Given the description of an element on the screen output the (x, y) to click on. 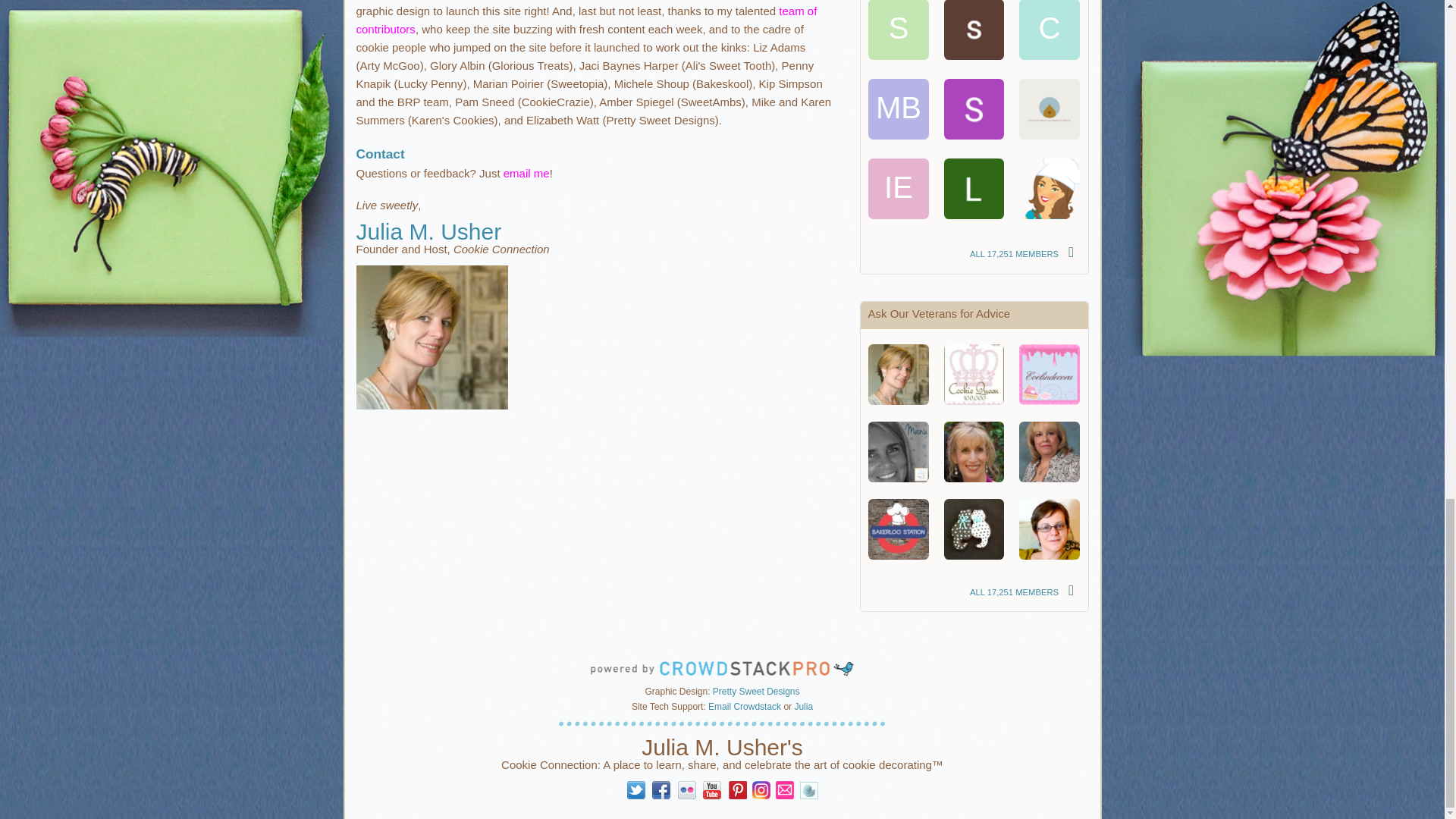
Econlady (973, 528)
sophia2005 (897, 31)
S (897, 29)
ChristyHaze (1049, 31)
C (1049, 29)
Julia M. Usher (897, 373)
Tina at Sugar Wishes (1049, 451)
Dkbh4 (1049, 188)
sara salim (973, 29)
etocakes (1049, 108)
